Given the description of an element on the screen output the (x, y) to click on. 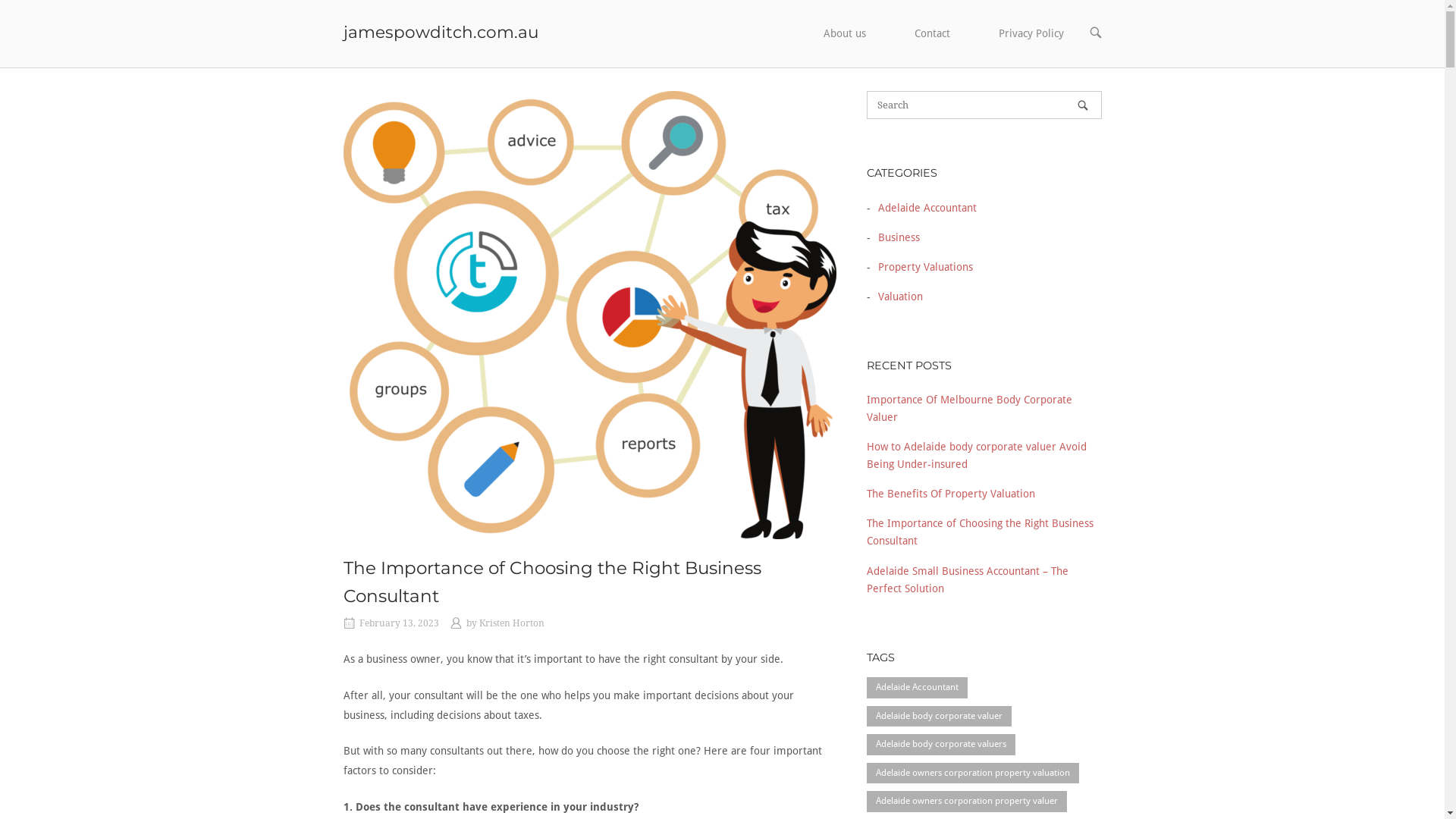
February 13, 2023 Element type: text (399, 623)
The Importance of Choosing the Right Business Consultant Element type: text (979, 531)
Adelaide Accountant Element type: text (923, 207)
Valuation Element type: text (896, 296)
About us Element type: text (844, 33)
Adelaide Accountant Element type: text (916, 687)
Contact Element type: text (931, 33)
Importance Of Melbourne Body Corporate Valuer Element type: text (968, 408)
OPEN SEARCH BAR Element type: text (1094, 33)
Adelaide owners corporation property valuation Element type: text (972, 773)
Privacy Policy Element type: text (1030, 33)
Adelaide body corporate valuers Element type: text (940, 744)
jamespowditch.com.au Element type: text (440, 31)
Business Element type: text (894, 237)
Kristen Horton Element type: text (511, 623)
Adelaide body corporate valuer Element type: text (938, 716)
The Importance of Choosing the Right Business Consultant Element type: text (551, 581)
Property Valuations Element type: text (921, 266)
The Benefits Of Property Valuation Element type: text (950, 493)
Adelaide owners corporation property valuer Element type: text (966, 801)
